Given the description of an element on the screen output the (x, y) to click on. 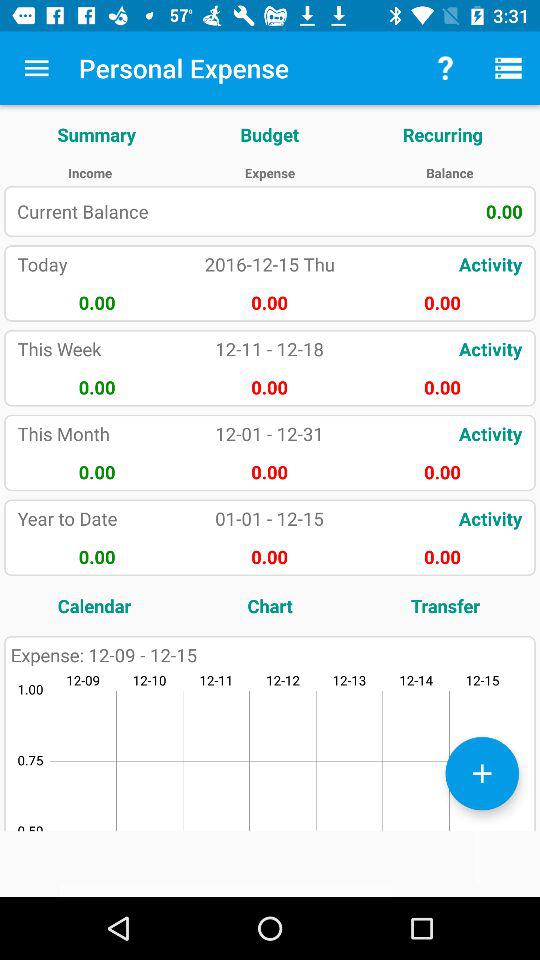
tap icon above the recurring icon (508, 67)
